Given the description of an element on the screen output the (x, y) to click on. 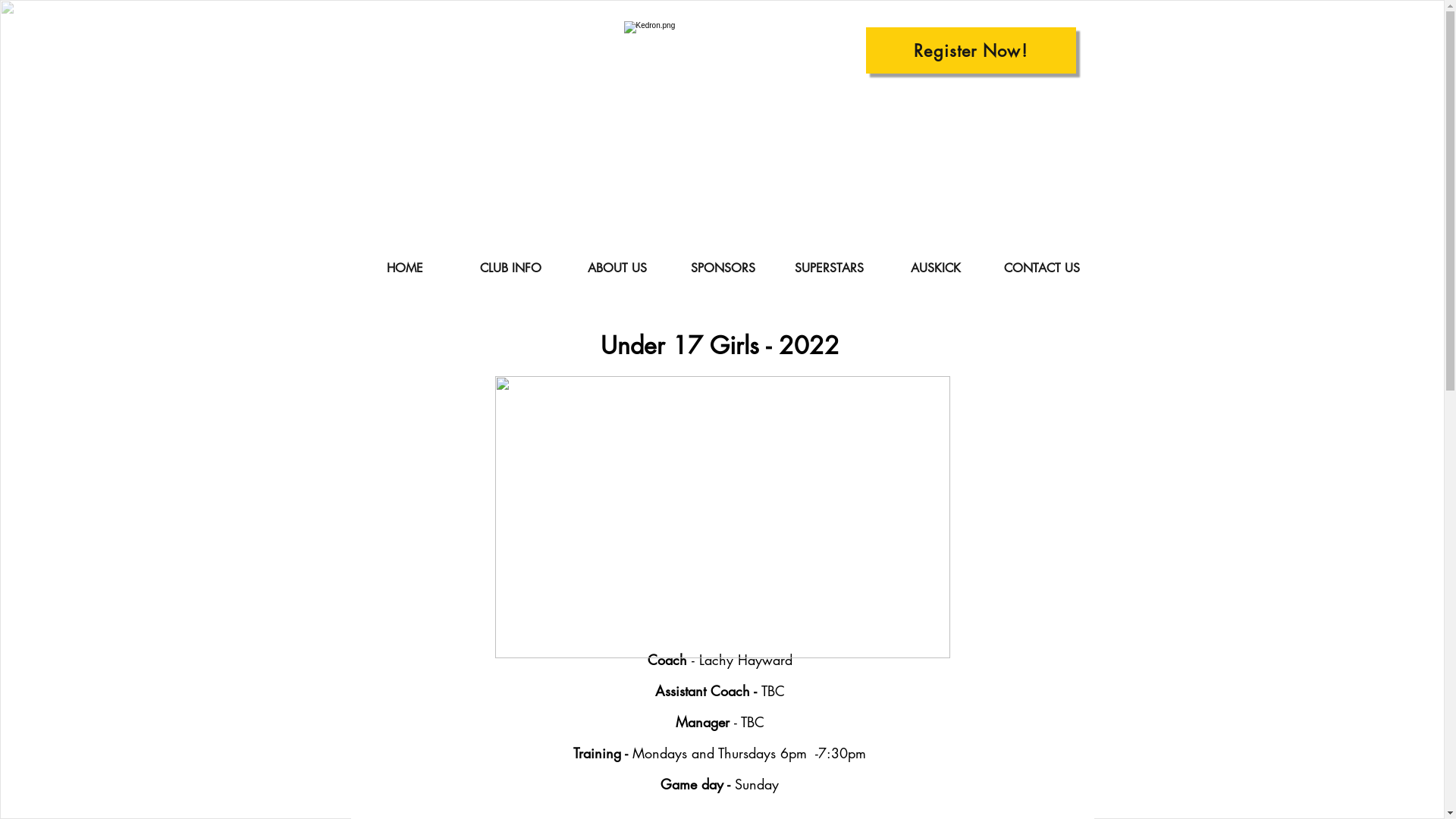
SUPERSTARS Element type: text (829, 267)
HOME Element type: text (404, 267)
Lachy Hayward U17G.png Element type: hover (721, 517)
CONTACT US Element type: text (1041, 267)
Register Now! Element type: text (971, 50)
SPONSORS Element type: text (723, 267)
AUSKICK Element type: text (935, 267)
